Given the description of an element on the screen output the (x, y) to click on. 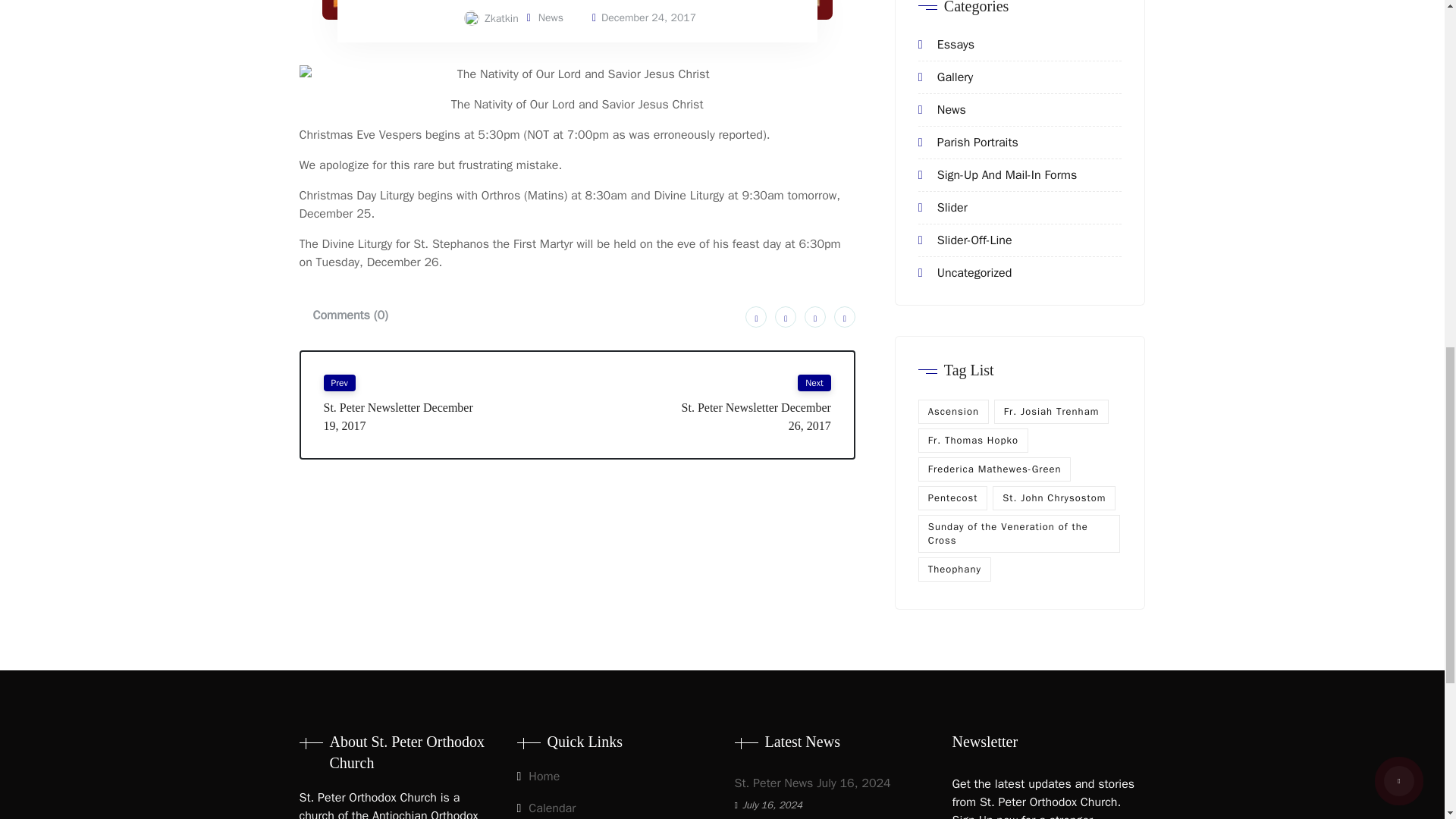
Click to send this page to Twitter! (785, 316)
